Given the description of an element on the screen output the (x, y) to click on. 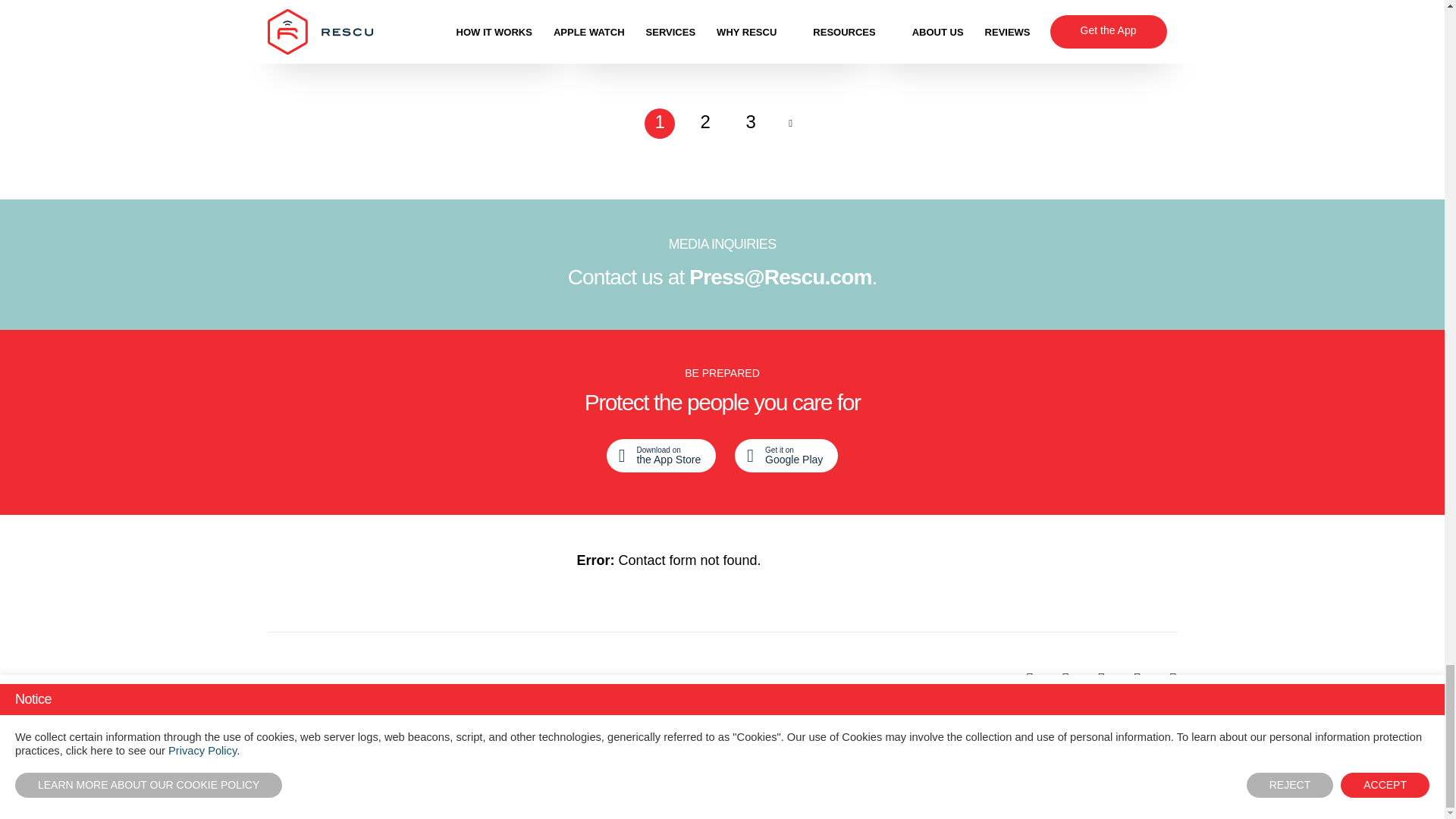
California Privacy Rights (470, 680)
Get it on Google Play (786, 455)
Download on the App Store (661, 455)
Cookie Statement (320, 680)
